Given the description of an element on the screen output the (x, y) to click on. 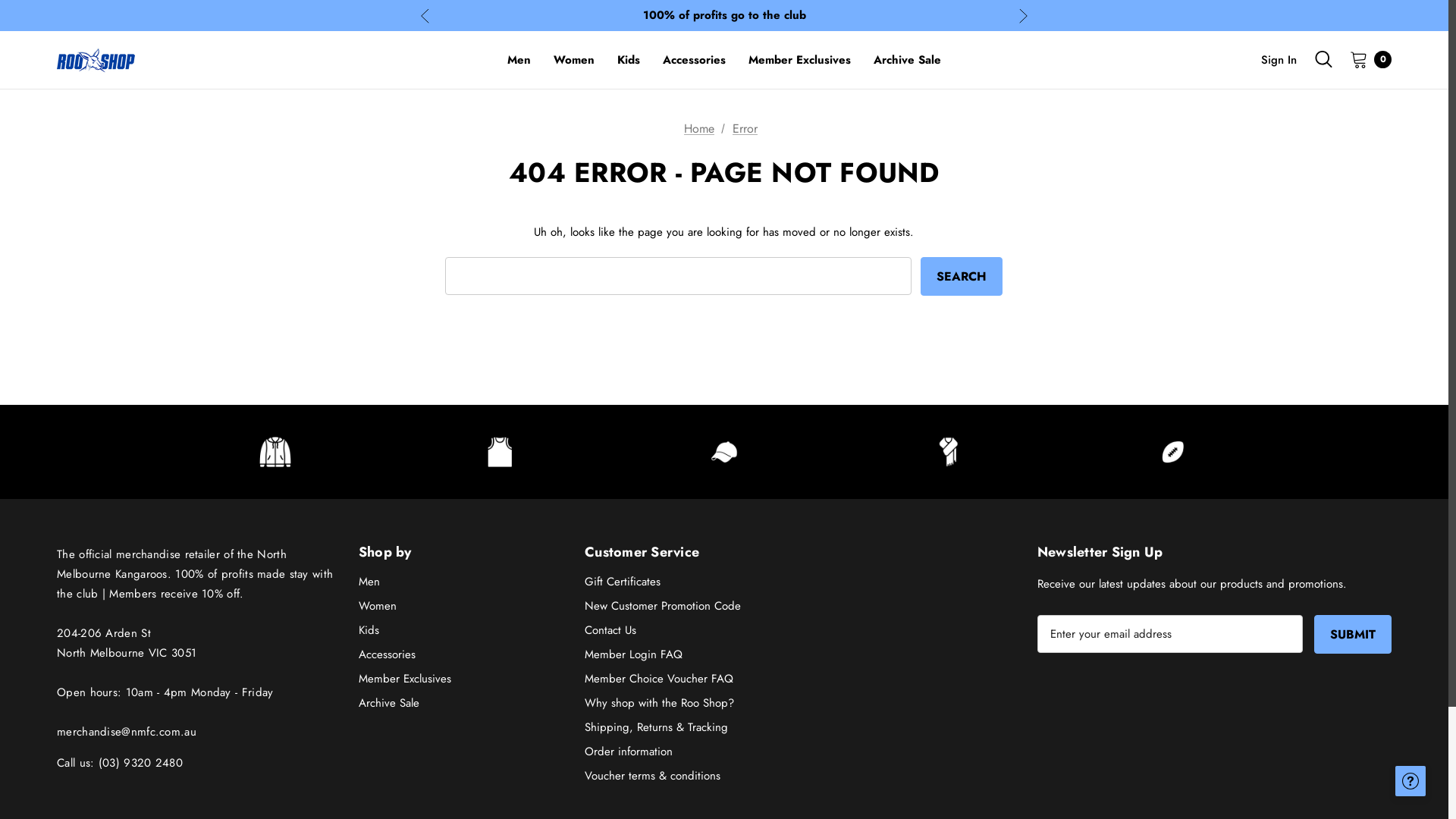
Archive Sale Element type: text (907, 59)
Gift Certificates Element type: text (622, 581)
Next Element type: text (1023, 15)
Men Element type: text (518, 59)
Submit Element type: text (1352, 634)
New Customer Promotion Code Element type: text (662, 605)
Women Element type: text (377, 605)
Sign In Element type: text (1278, 59)
Accessories Element type: text (386, 654)
Why shop with the Roo Shop? Element type: text (659, 702)
Women Element type: text (573, 59)
0 Element type: text (1365, 58)
Member Exclusives Element type: text (799, 59)
The Roo Shop Element type: hover (95, 59)
Member Exclusives Element type: text (404, 678)
Archive Sale Element type: text (388, 702)
Kids Element type: text (628, 59)
Call us: (03) 9320 2480 Element type: text (119, 762)
Accessories Element type: text (694, 59)
Voucher terms & conditions Element type: text (652, 775)
Member Choice Voucher FAQ Element type: text (658, 678)
Members receive 10% off full price items Element type: text (723, 14)
Error Element type: text (744, 128)
Member Login FAQ Element type: text (633, 654)
Order information Element type: text (628, 751)
Kids Element type: text (368, 630)
Search Element type: text (961, 276)
Previous Element type: text (425, 15)
Contact Us Element type: text (610, 630)
Home Element type: text (699, 128)
Shipping, Returns & Tracking Element type: text (656, 727)
Men Element type: text (368, 581)
